Given the description of an element on the screen output the (x, y) to click on. 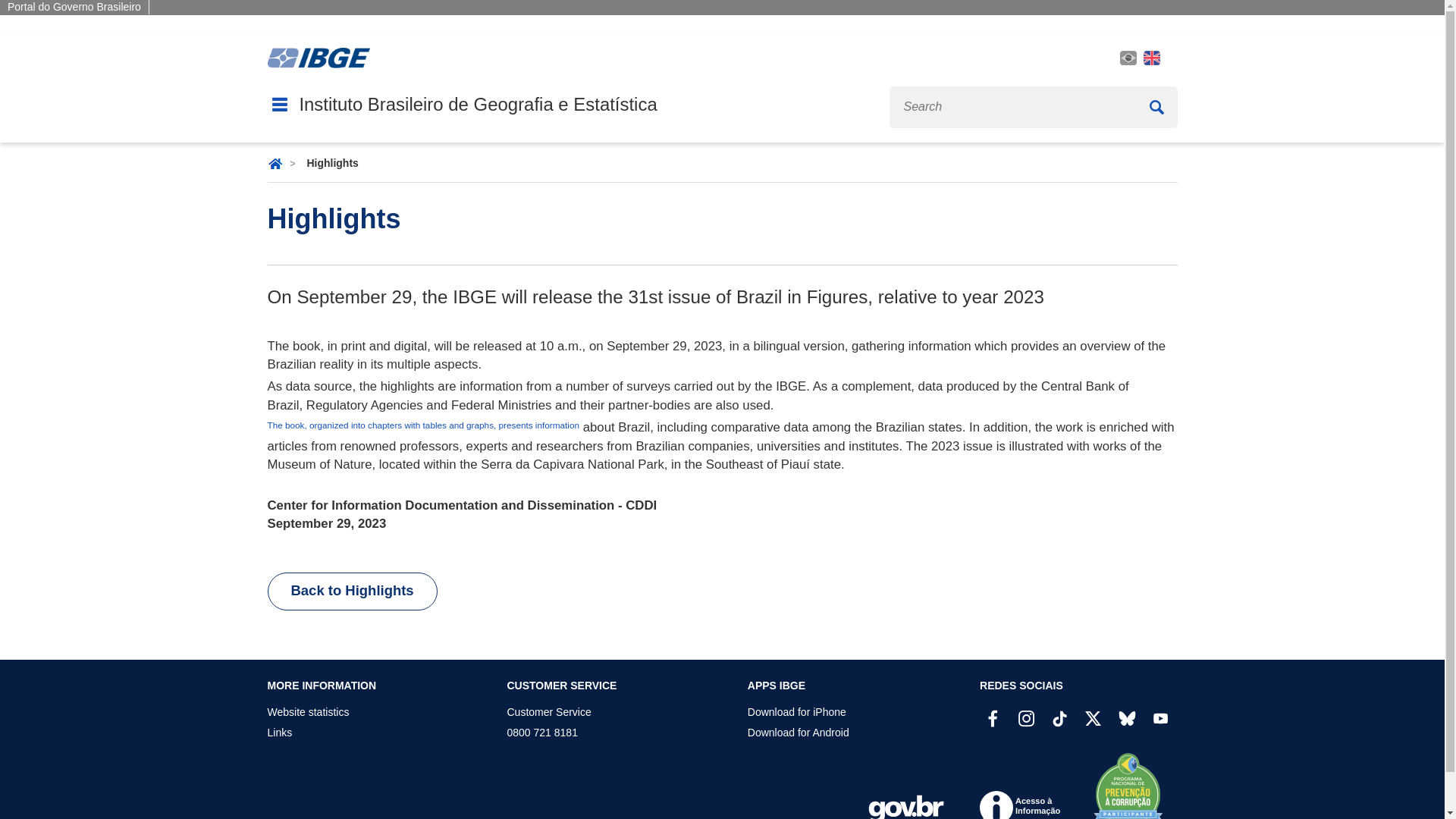
Portal do Governo Brasileiro (74, 6)
Twitter (1092, 719)
English (1151, 57)
